Given the description of an element on the screen output the (x, y) to click on. 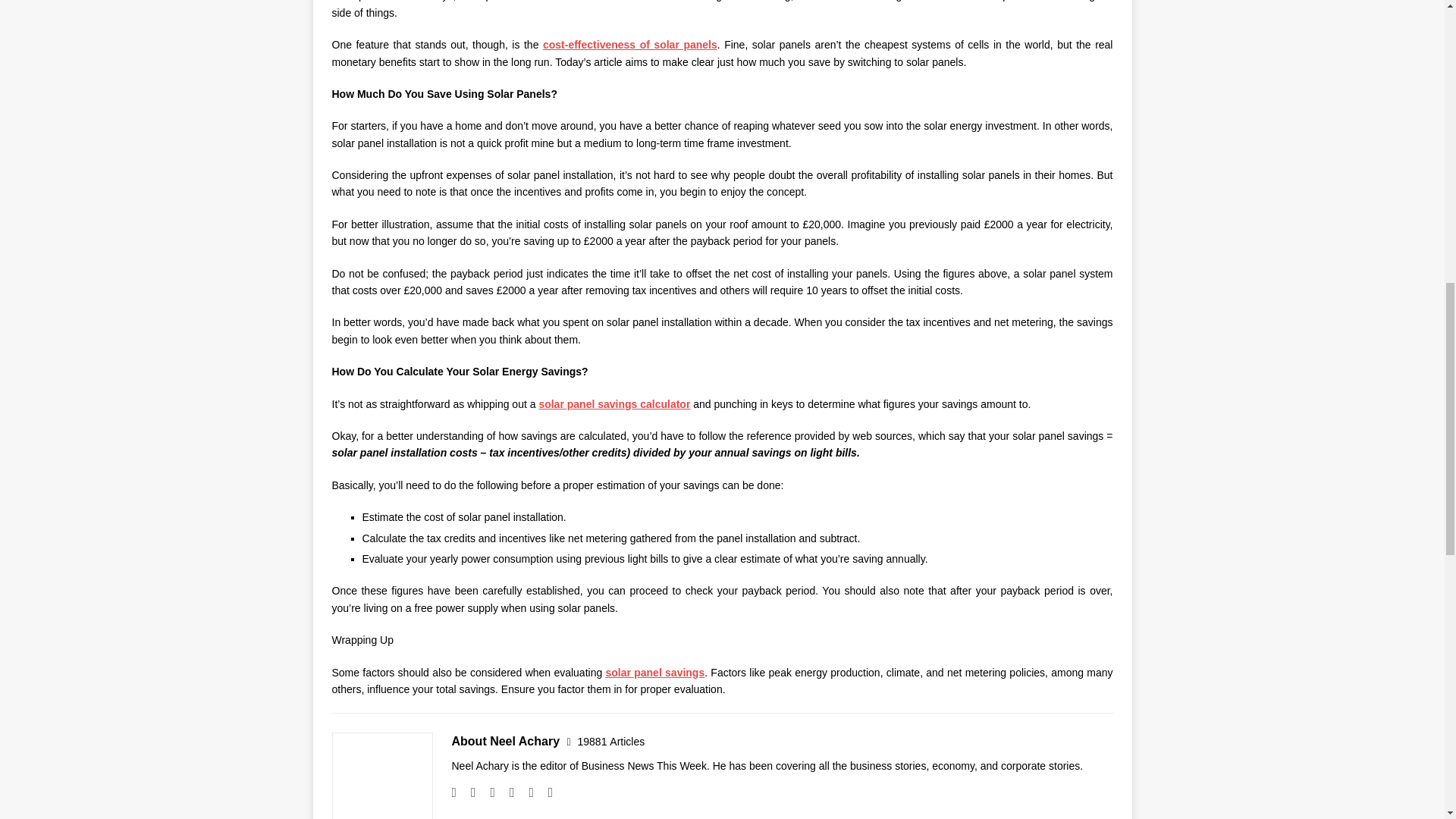
Follow Neel Achary on Instagram (487, 792)
Follow Neel Achary on Facebook (468, 792)
solar panel savings (654, 672)
solar panel savings calculator (614, 404)
cost-effectiveness of solar panels (630, 44)
More articles written by Neel Achary' (611, 741)
